Given the description of an element on the screen output the (x, y) to click on. 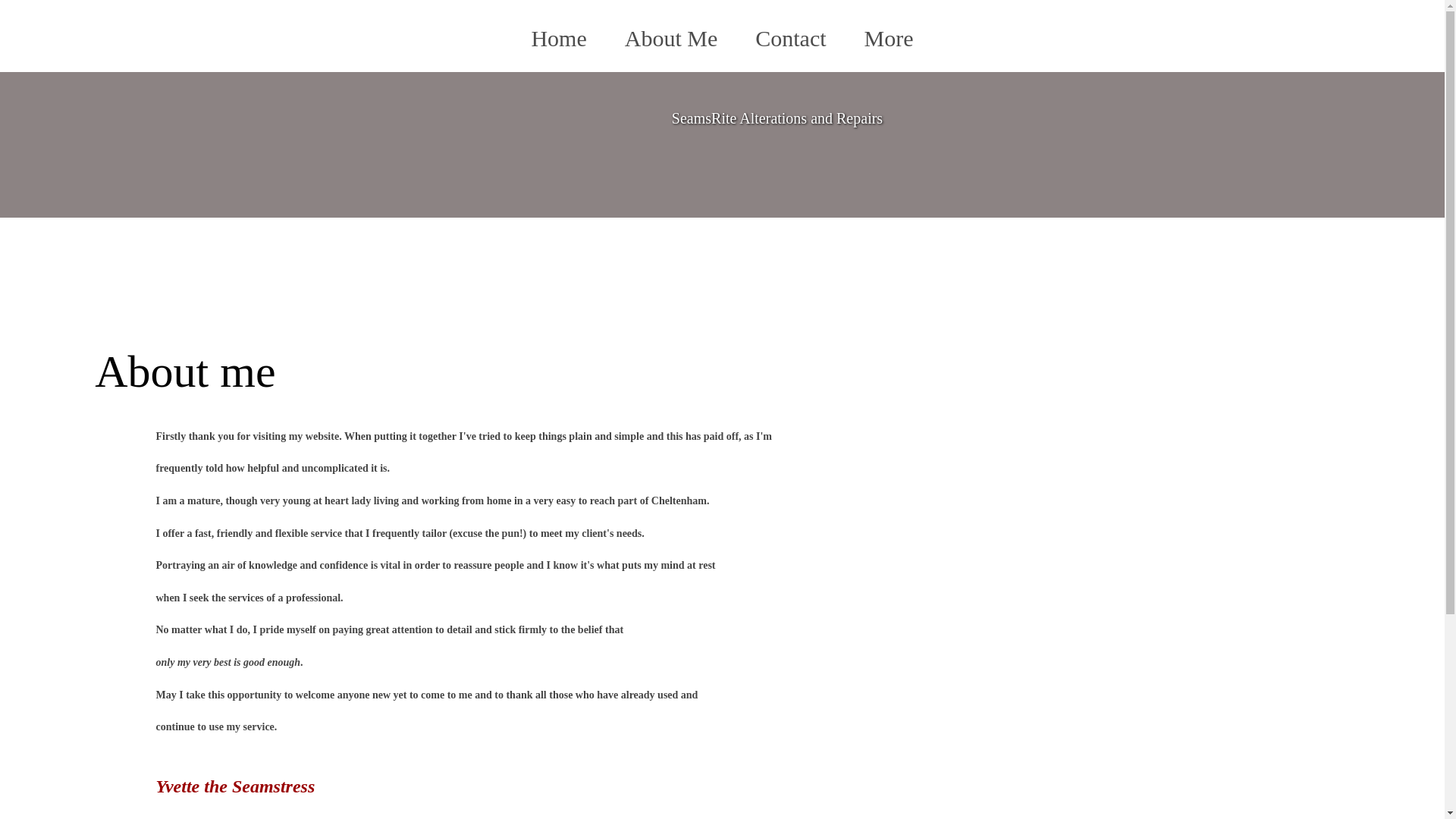
Contact (790, 39)
About Me (670, 39)
Contact (790, 39)
Home (558, 39)
About Me (670, 39)
More (889, 39)
More (889, 39)
Home (558, 39)
